Given the description of an element on the screen output the (x, y) to click on. 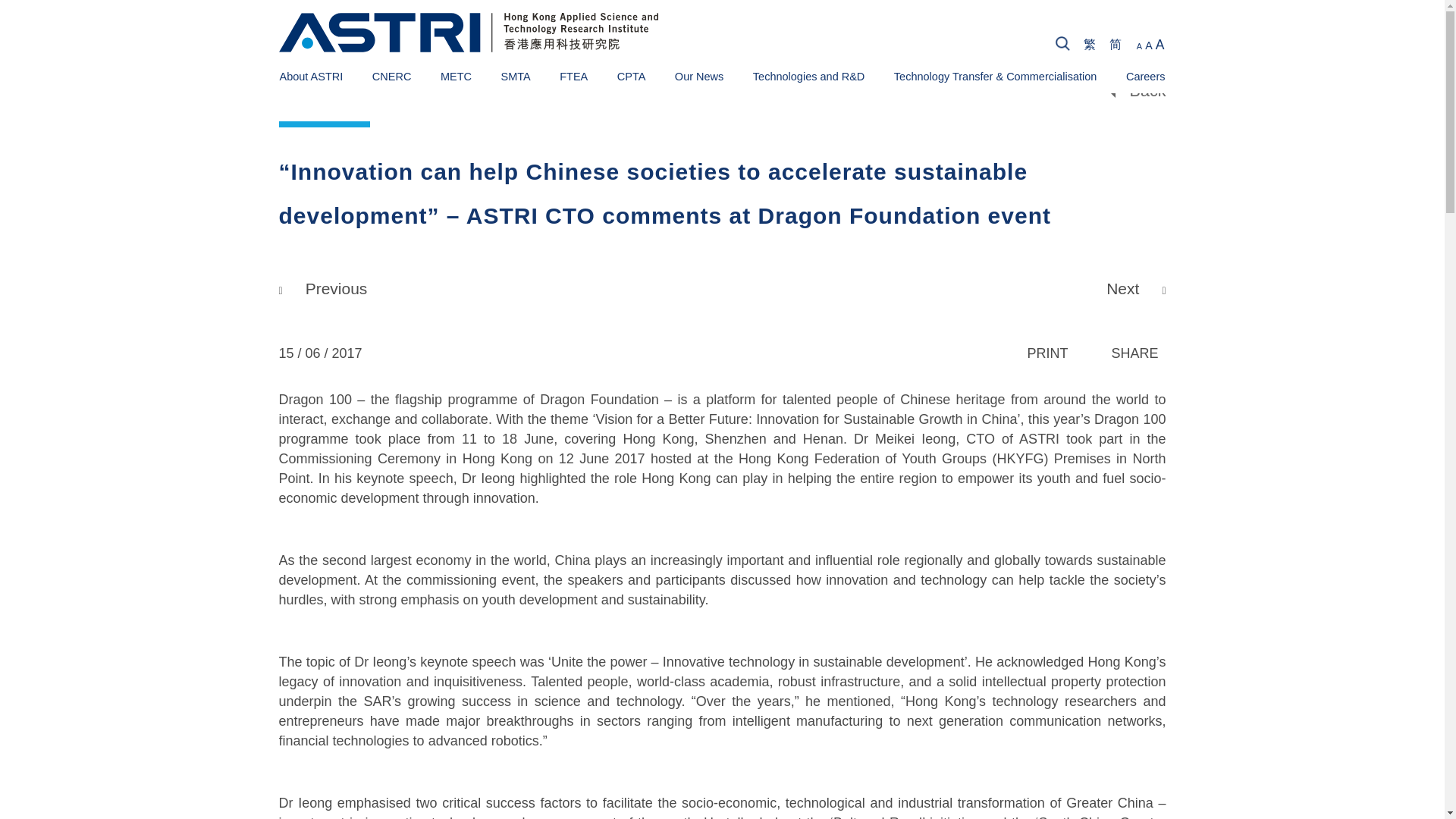
FTEA (573, 76)
METC (456, 76)
About ASTRI (310, 76)
A (1138, 45)
CPTA (631, 76)
CNERC (392, 76)
Our News (699, 76)
SMTA (514, 76)
Corporate News (369, 74)
Search (1348, 45)
